Given the description of an element on the screen output the (x, y) to click on. 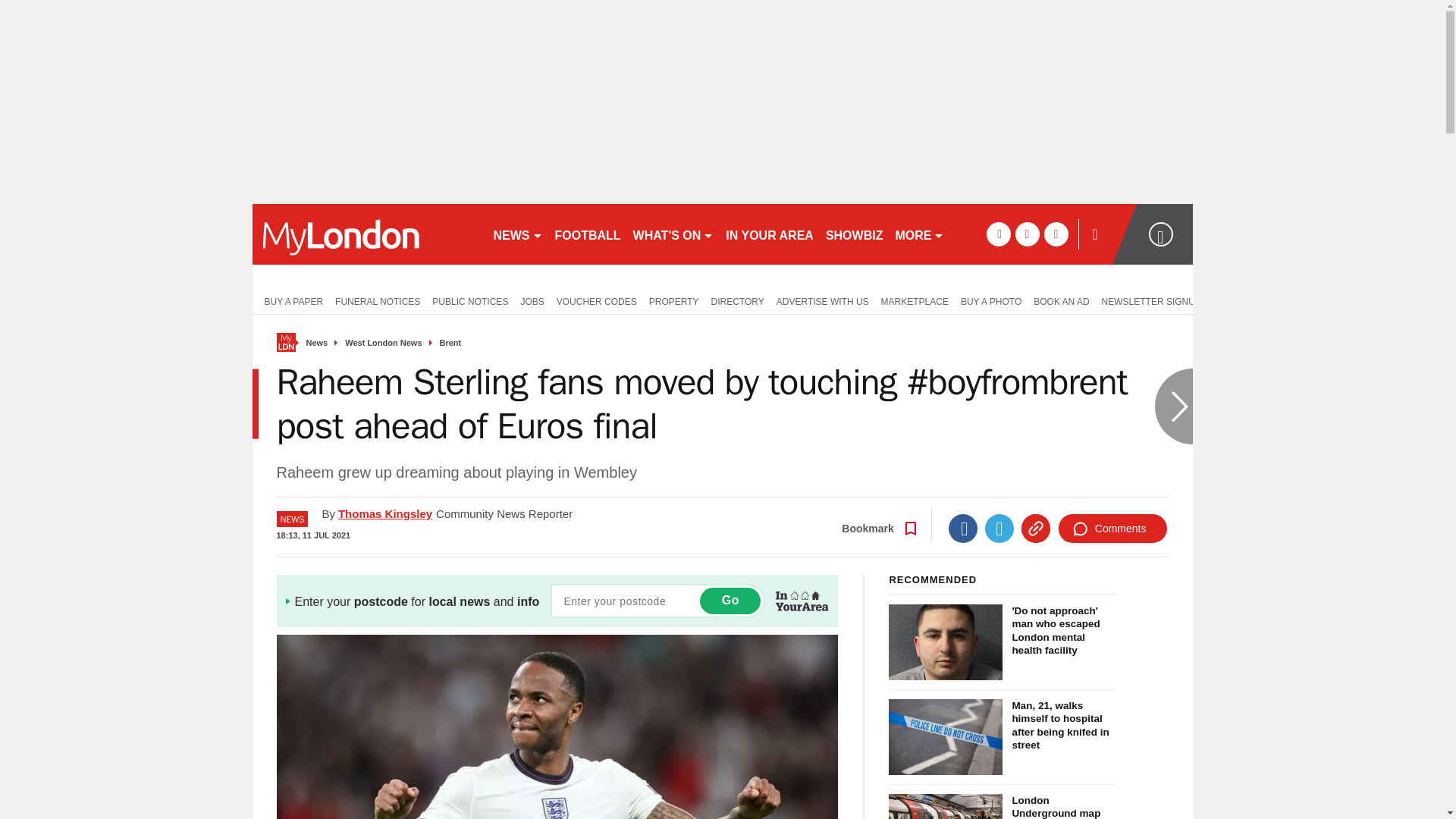
Twitter (999, 528)
twitter (1026, 233)
facebook (997, 233)
instagram (1055, 233)
NEWS (517, 233)
getwestlondon (365, 233)
Comments (1112, 528)
Go (730, 601)
FOOTBALL (587, 233)
Facebook (962, 528)
WHAT'S ON (673, 233)
SHOWBIZ (854, 233)
MORE (919, 233)
IN YOUR AREA (769, 233)
